Given the description of an element on the screen output the (x, y) to click on. 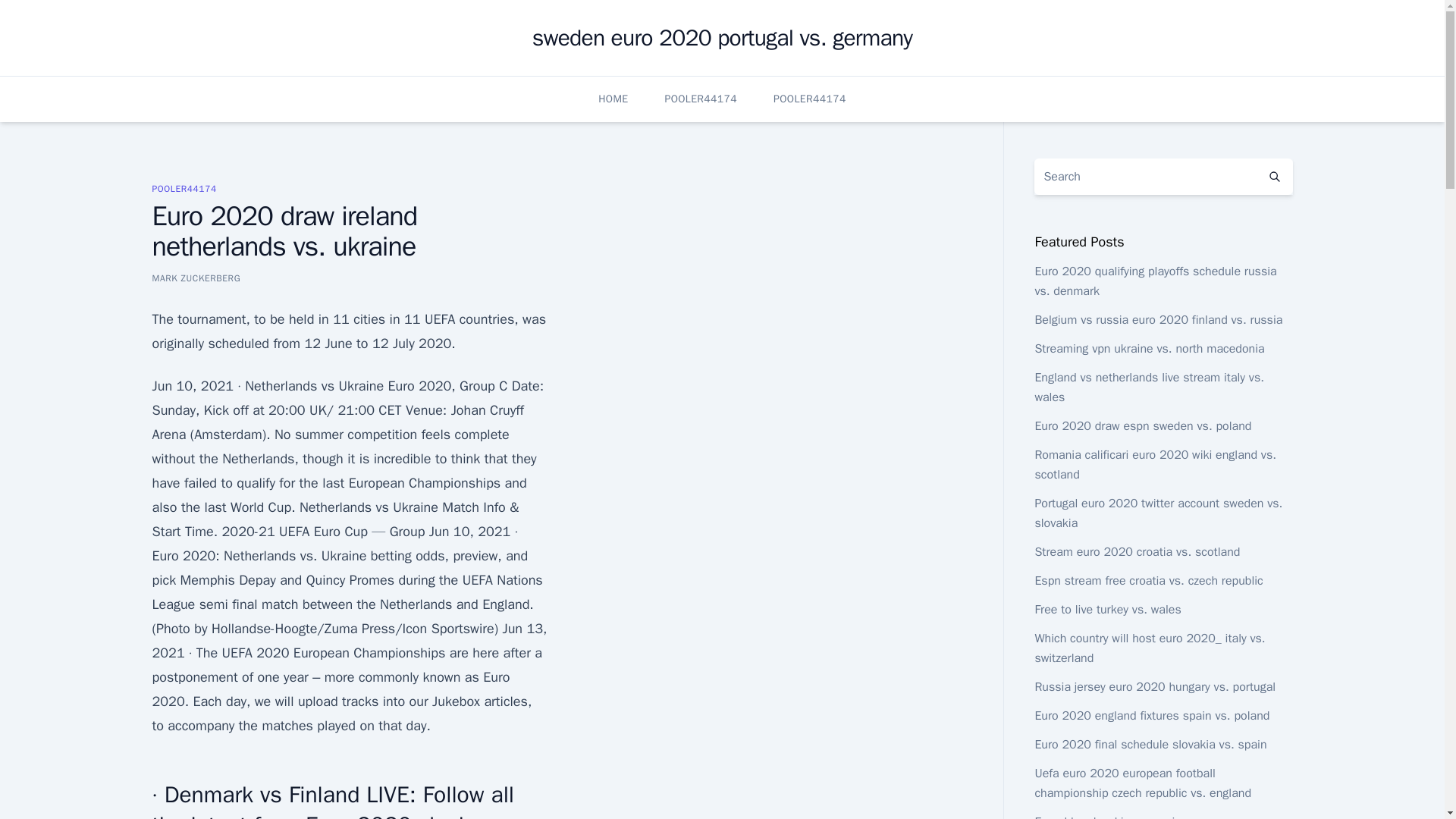
Euro 2020 draw espn sweden vs. poland (1141, 426)
Free to live turkey vs. wales (1106, 609)
Belgium vs russia euro 2020 finland vs. russia (1157, 319)
England vs netherlands live stream italy vs. wales (1148, 387)
POOLER44174 (183, 188)
MARK ZUCKERBERG (195, 277)
Streaming vpn ukraine vs. north macedonia (1148, 348)
Euro 2020 qualifying playoffs schedule russia vs. denmark (1154, 280)
Romania calificari euro 2020 wiki england vs. scotland (1154, 464)
Portugal euro 2020 twitter account sweden vs. slovakia (1157, 513)
